Given the description of an element on the screen output the (x, y) to click on. 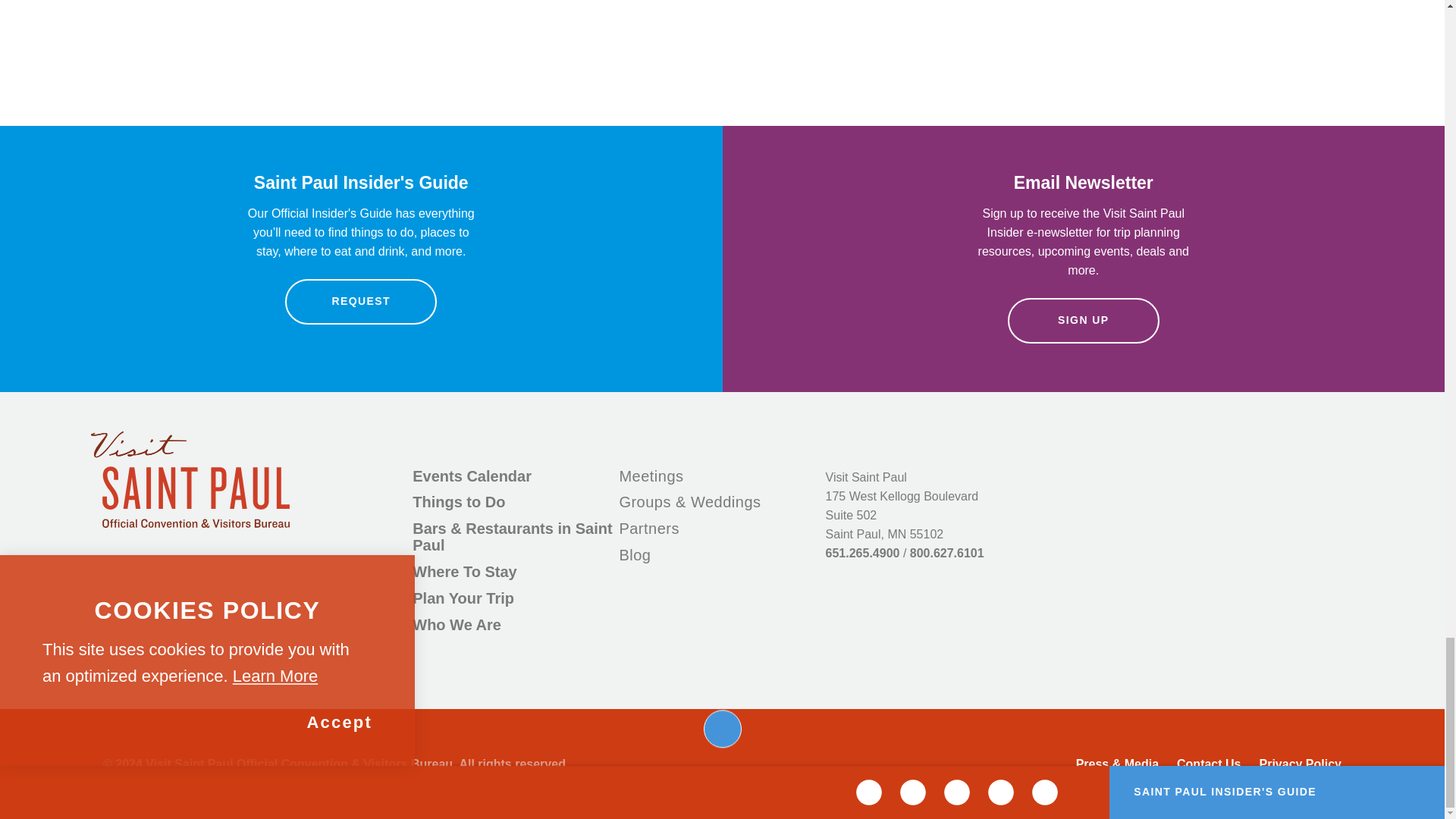
REQUEST (360, 301)
Events Calendar (471, 475)
SIGN UP (1082, 320)
Things to Do (458, 501)
